Given the description of an element on the screen output the (x, y) to click on. 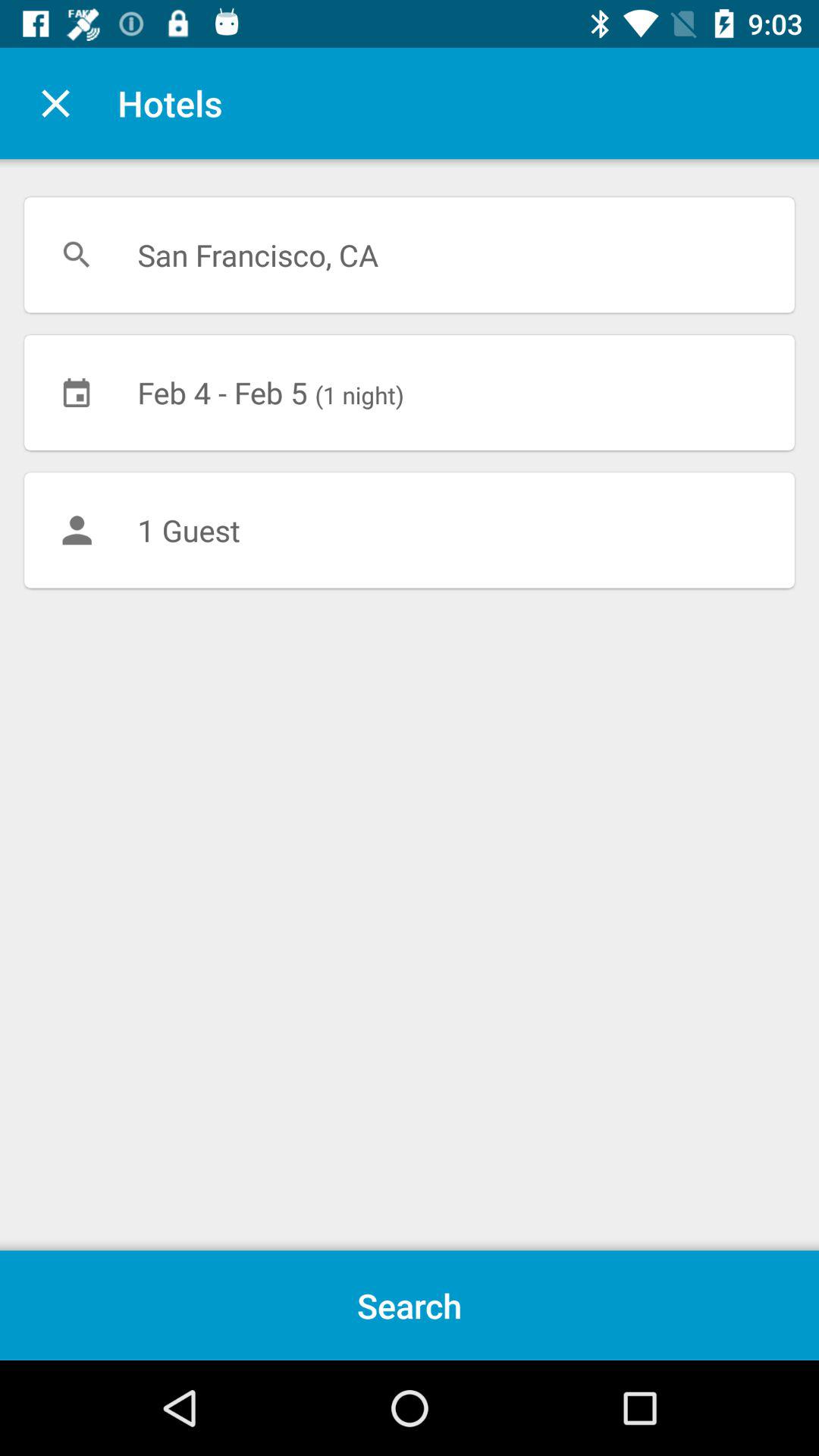
jump until the feb 4 feb icon (409, 392)
